Given the description of an element on the screen output the (x, y) to click on. 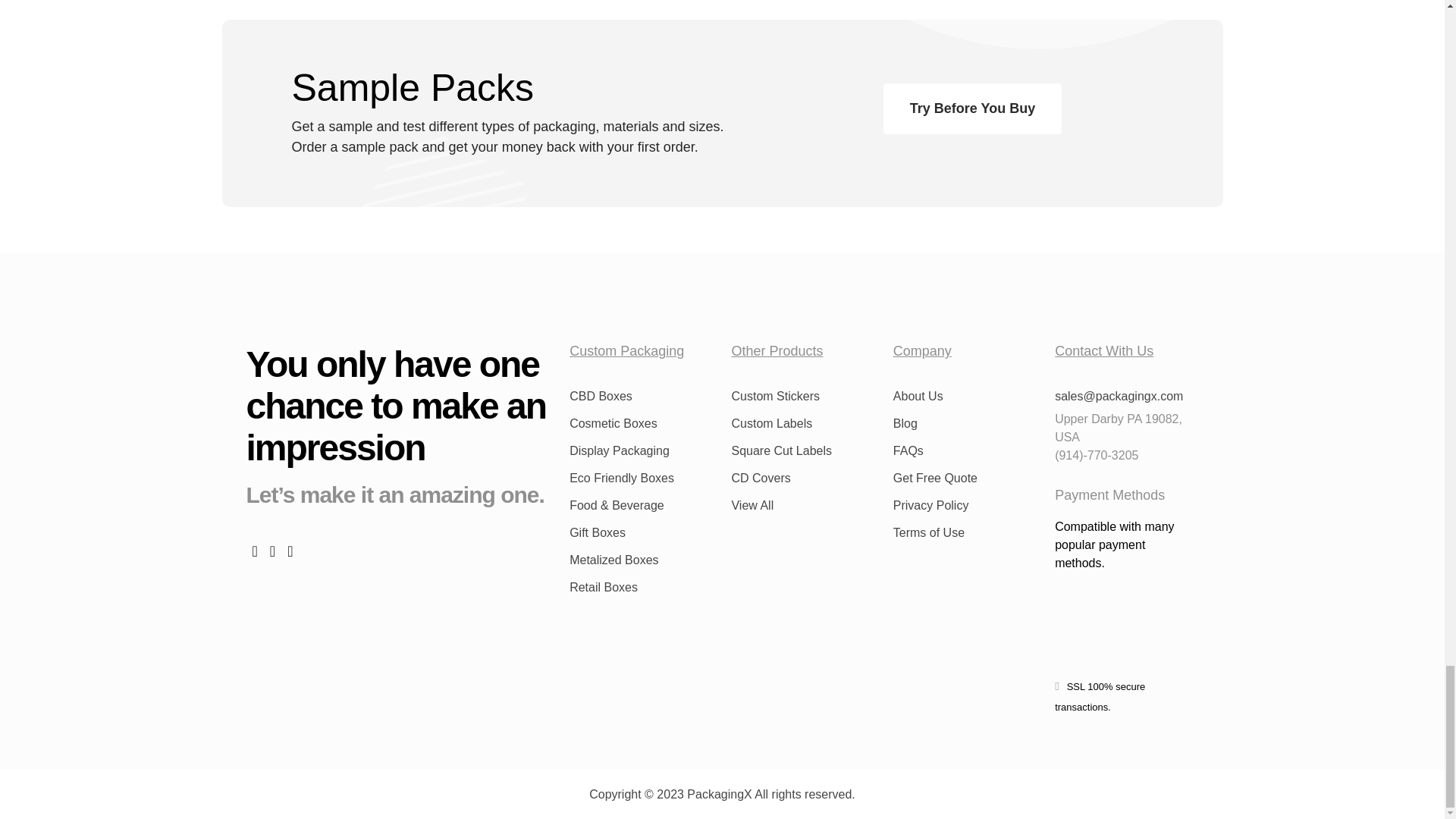
contact button (972, 108)
